Given the description of an element on the screen output the (x, y) to click on. 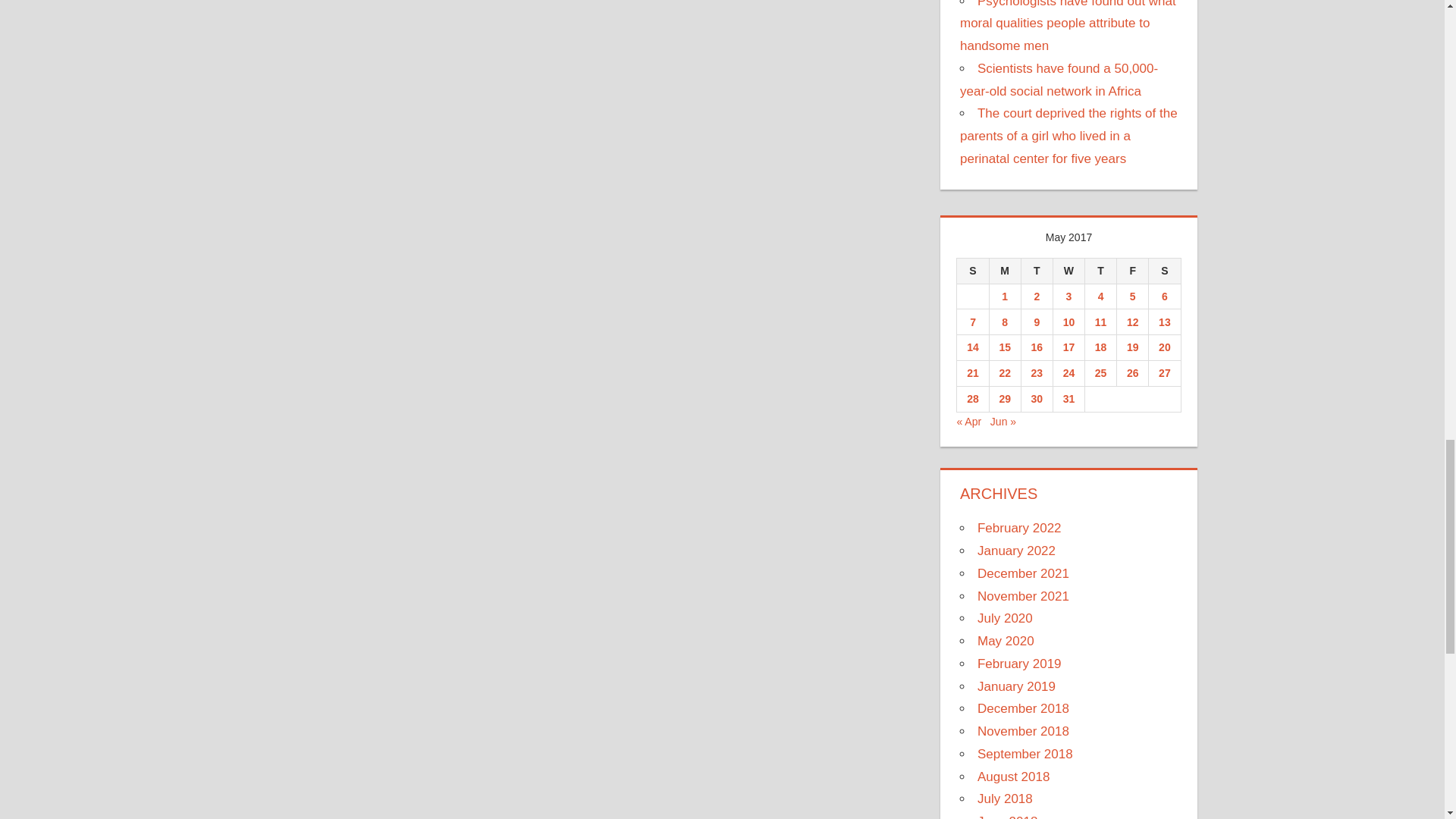
Thursday (1100, 270)
Wednesday (1068, 270)
Saturday (1164, 270)
Monday (1004, 270)
Friday (1132, 270)
Sunday (972, 270)
Tuesday (1036, 270)
